Given the description of an element on the screen output the (x, y) to click on. 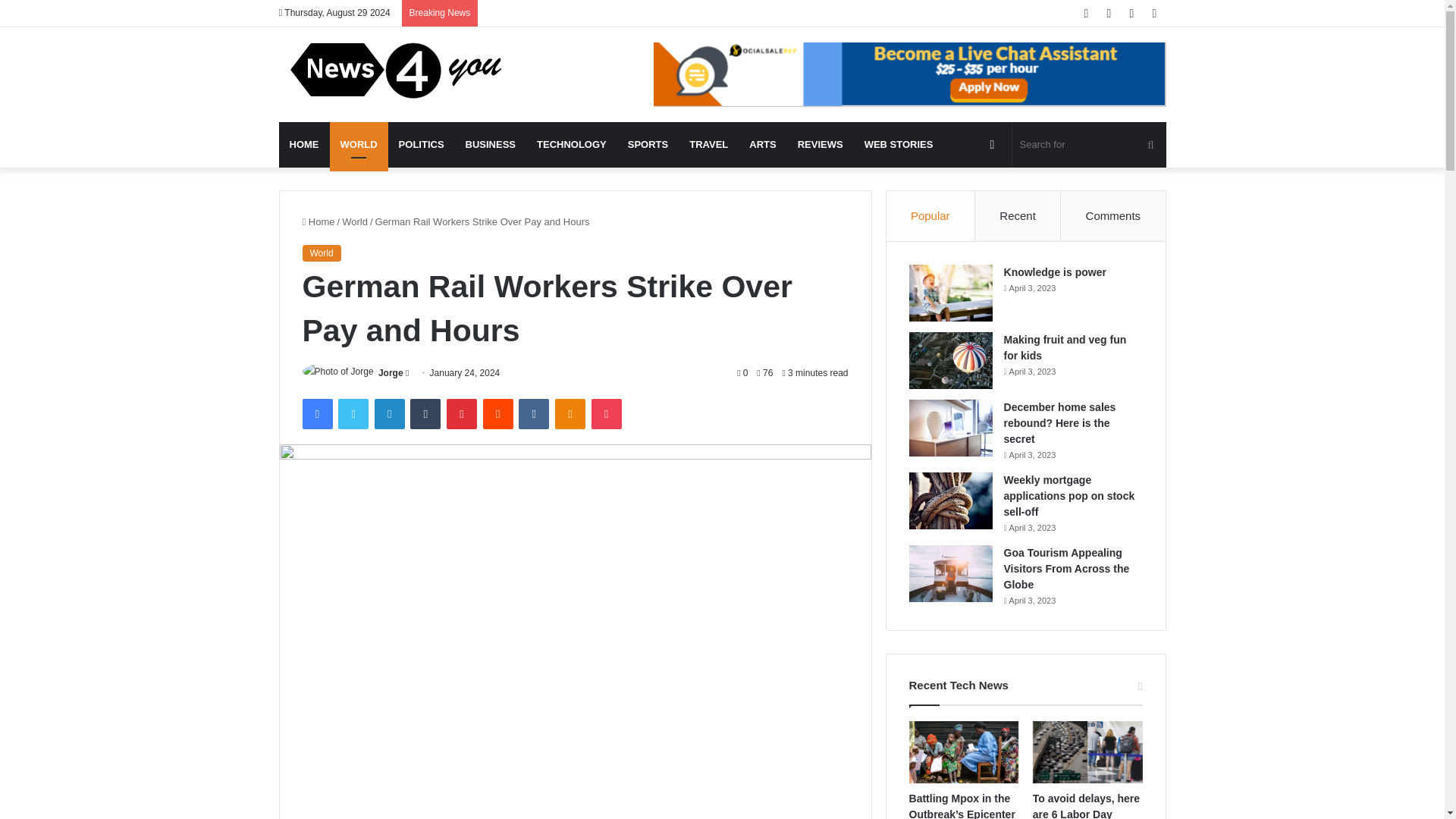
VKontakte (533, 413)
Reddit (498, 413)
Search for (1088, 144)
WEB STORIES (898, 144)
POLITICS (421, 144)
SPORTS (647, 144)
WORLD (358, 144)
Pocket (606, 413)
Jorge (390, 372)
BUSINESS (489, 144)
